Given the description of an element on the screen output the (x, y) to click on. 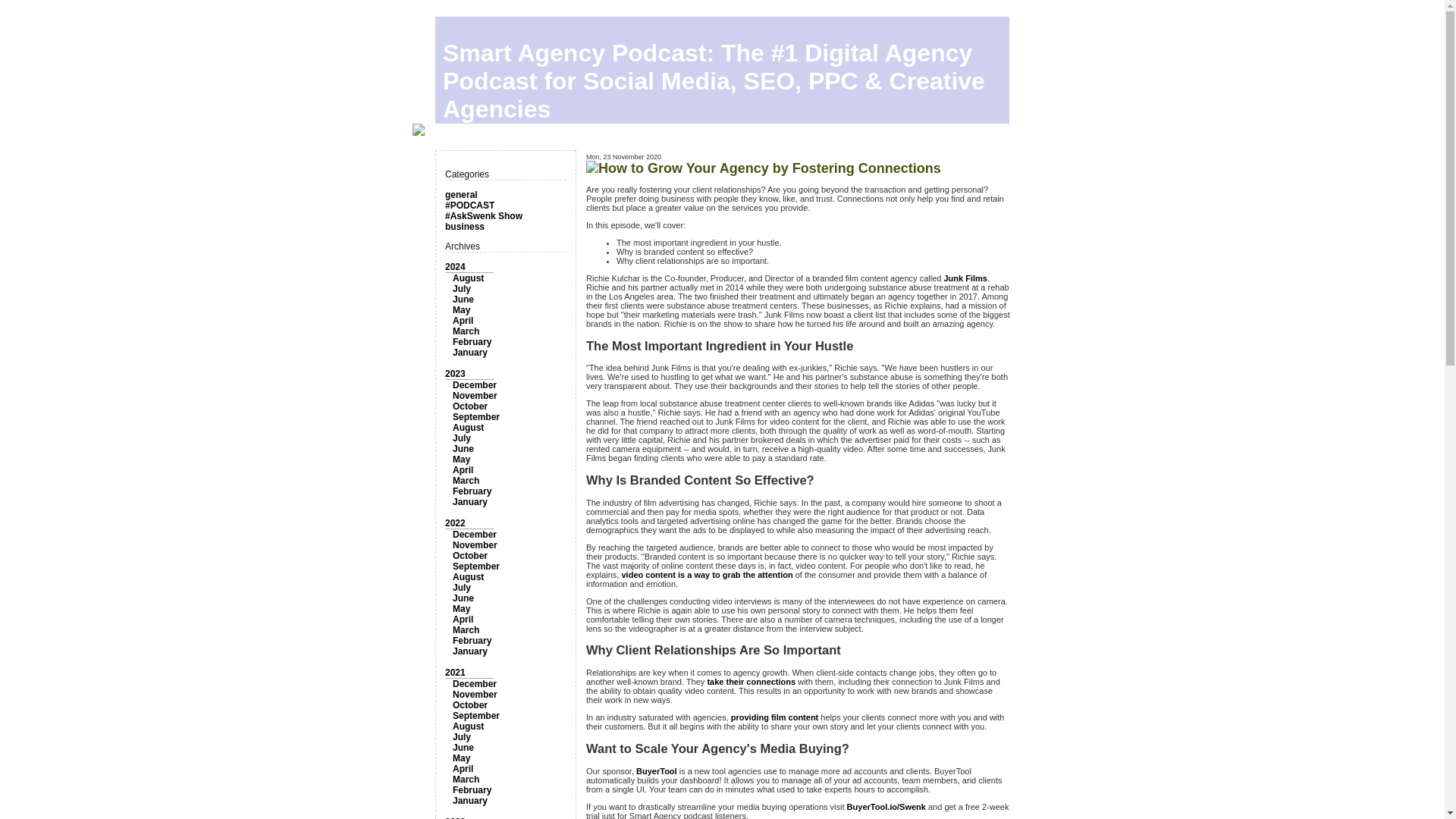
May (461, 309)
November (474, 544)
June (463, 299)
February (472, 341)
September (475, 416)
August (467, 427)
December (474, 385)
December (474, 534)
general (461, 194)
2024 (455, 266)
